Given the description of an element on the screen output the (x, y) to click on. 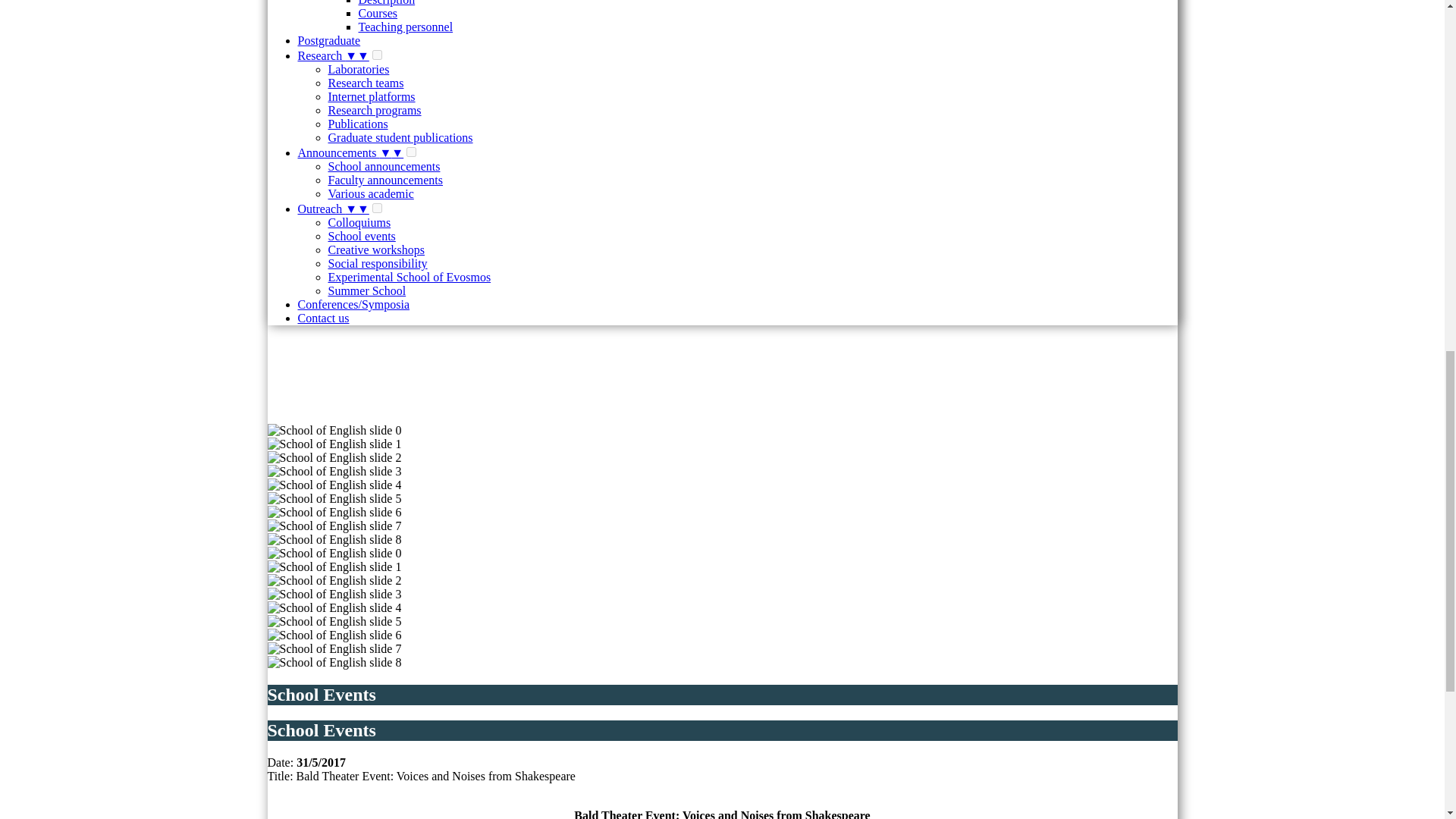
Toggle Drop-down (362, 208)
on (376, 207)
Toggle Drop-down (362, 55)
on (411, 152)
Toggle Drop-down (397, 152)
on (376, 54)
